Given the description of an element on the screen output the (x, y) to click on. 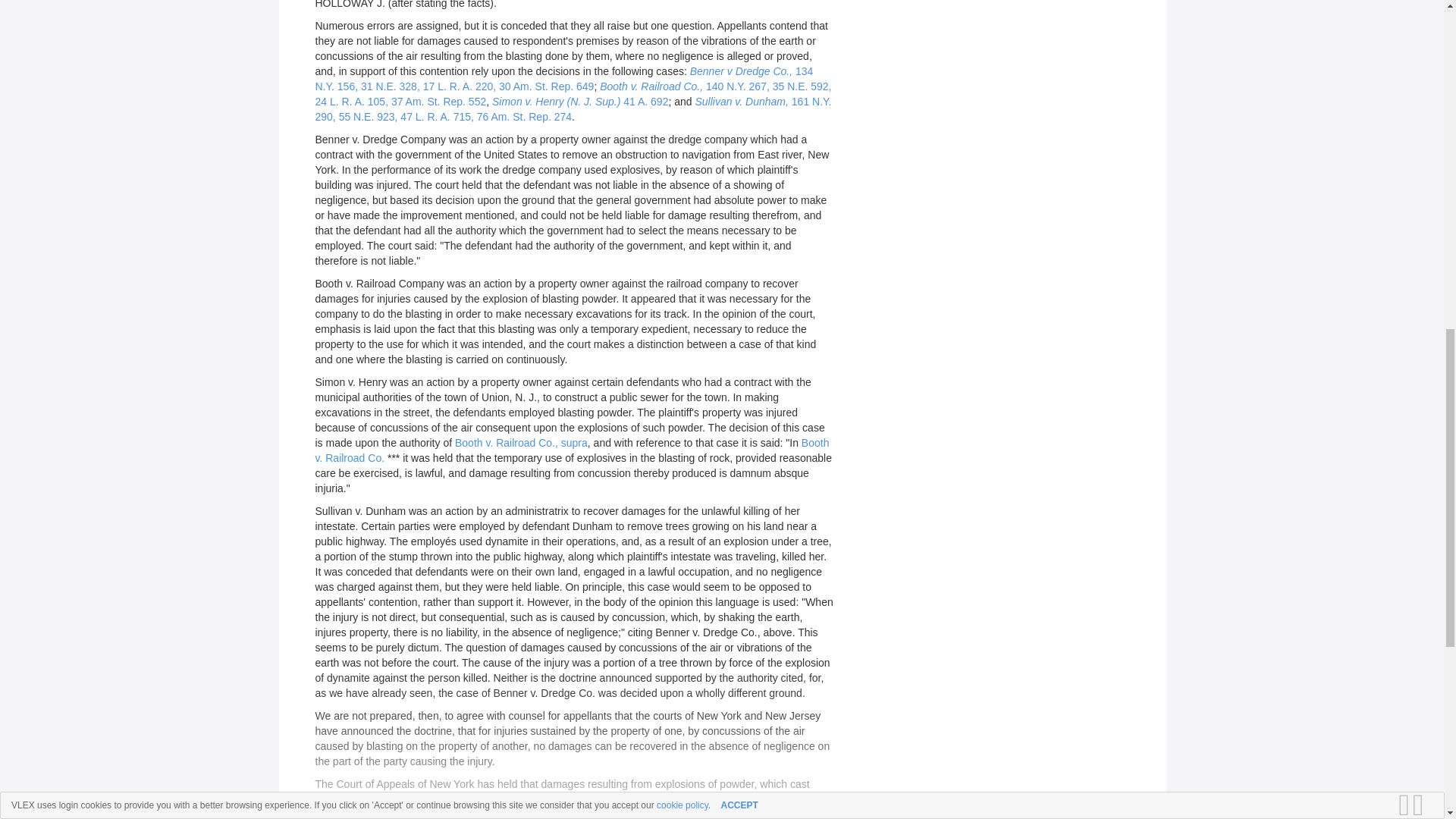
L. R. A. 715, 76 Am. St. Rep. 274 (493, 116)
St. Peter v. Denison, 58 N.Y. 416, 17 Am. Rep. 258 (705, 813)
Hay v. Cohoes Co., 2 N Y. 159, 51 Am. Dec. 279 (466, 813)
Sullivan v. Dunham, 161 N.Y. 290, 55 N.E. 923, 47 (573, 108)
Booth v. Railroad Co., supra (521, 442)
Booth v. Railroad Co. (572, 450)
